Given the description of an element on the screen output the (x, y) to click on. 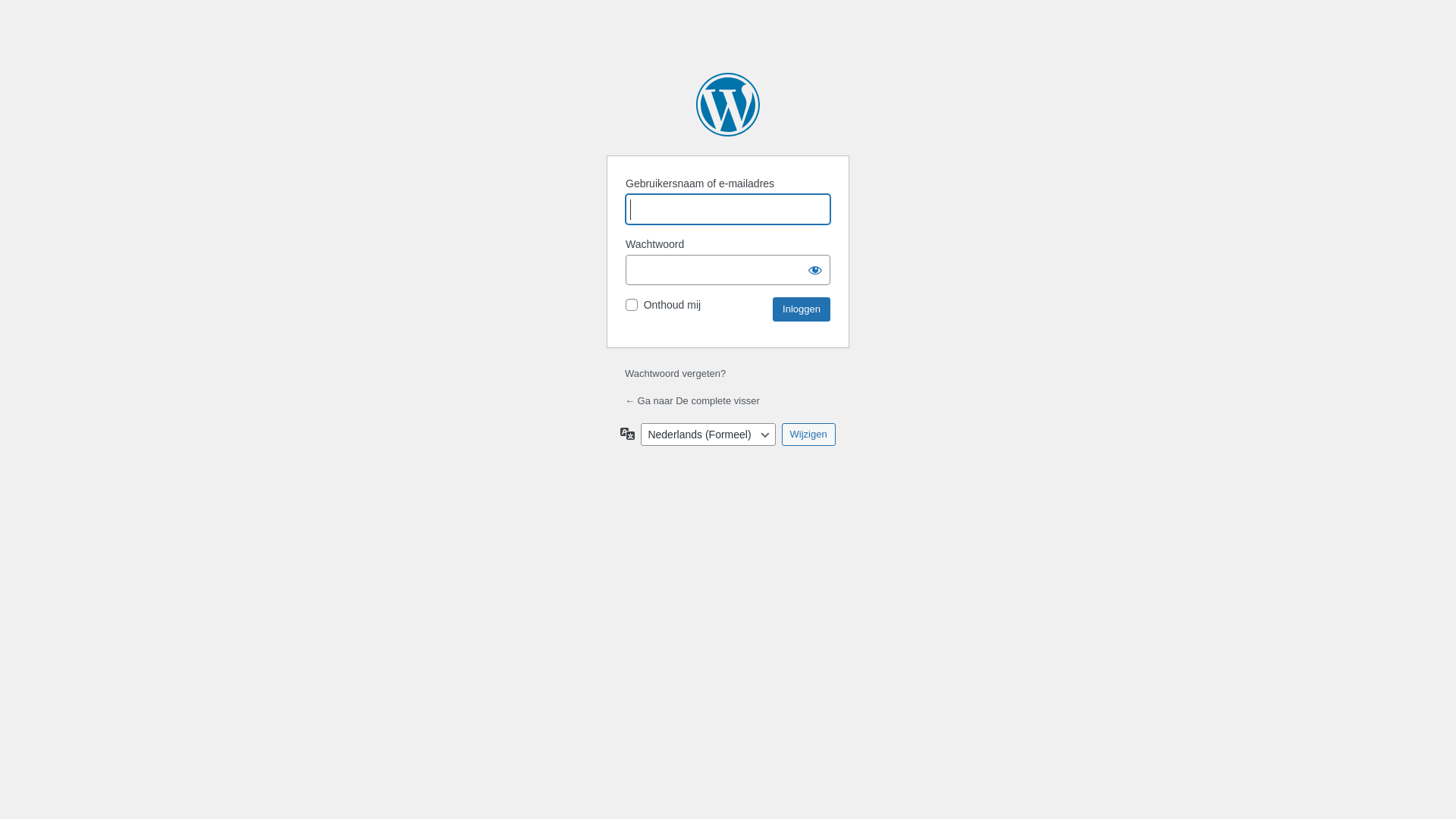
Wijzigen Element type: text (808, 434)
Wachtwoord vergeten? Element type: text (674, 373)
Inloggen Element type: text (801, 309)
Mogelijk gemaakt door WordPress Element type: text (727, 104)
